Given the description of an element on the screen output the (x, y) to click on. 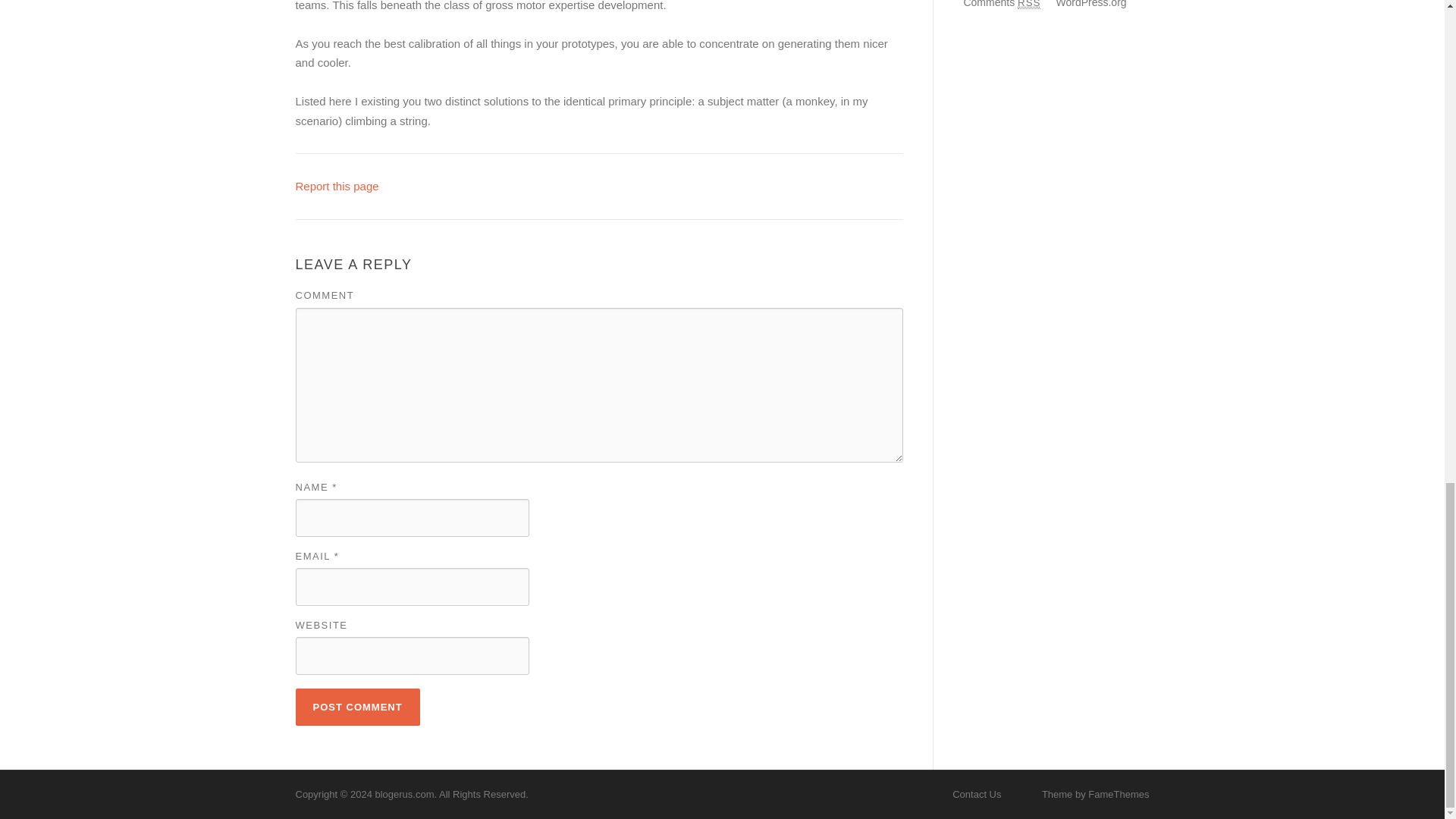
Post Comment (357, 706)
Really Simple Syndication (1029, 4)
Comments RSS (1001, 4)
WordPress.org (1090, 4)
Post Comment (357, 706)
Report this page (336, 185)
